Given the description of an element on the screen output the (x, y) to click on. 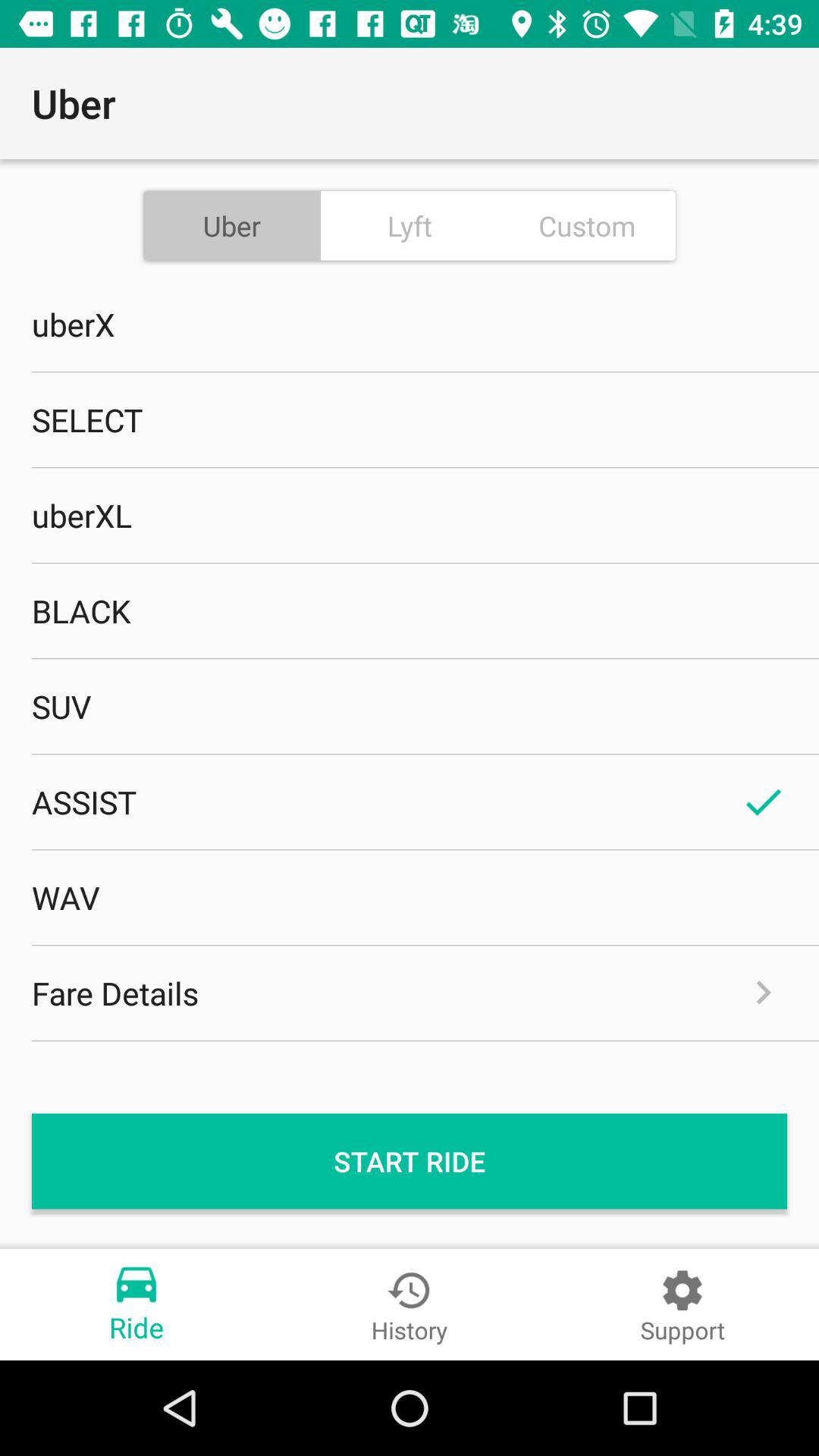
turn off item above black icon (409, 515)
